Given the description of an element on the screen output the (x, y) to click on. 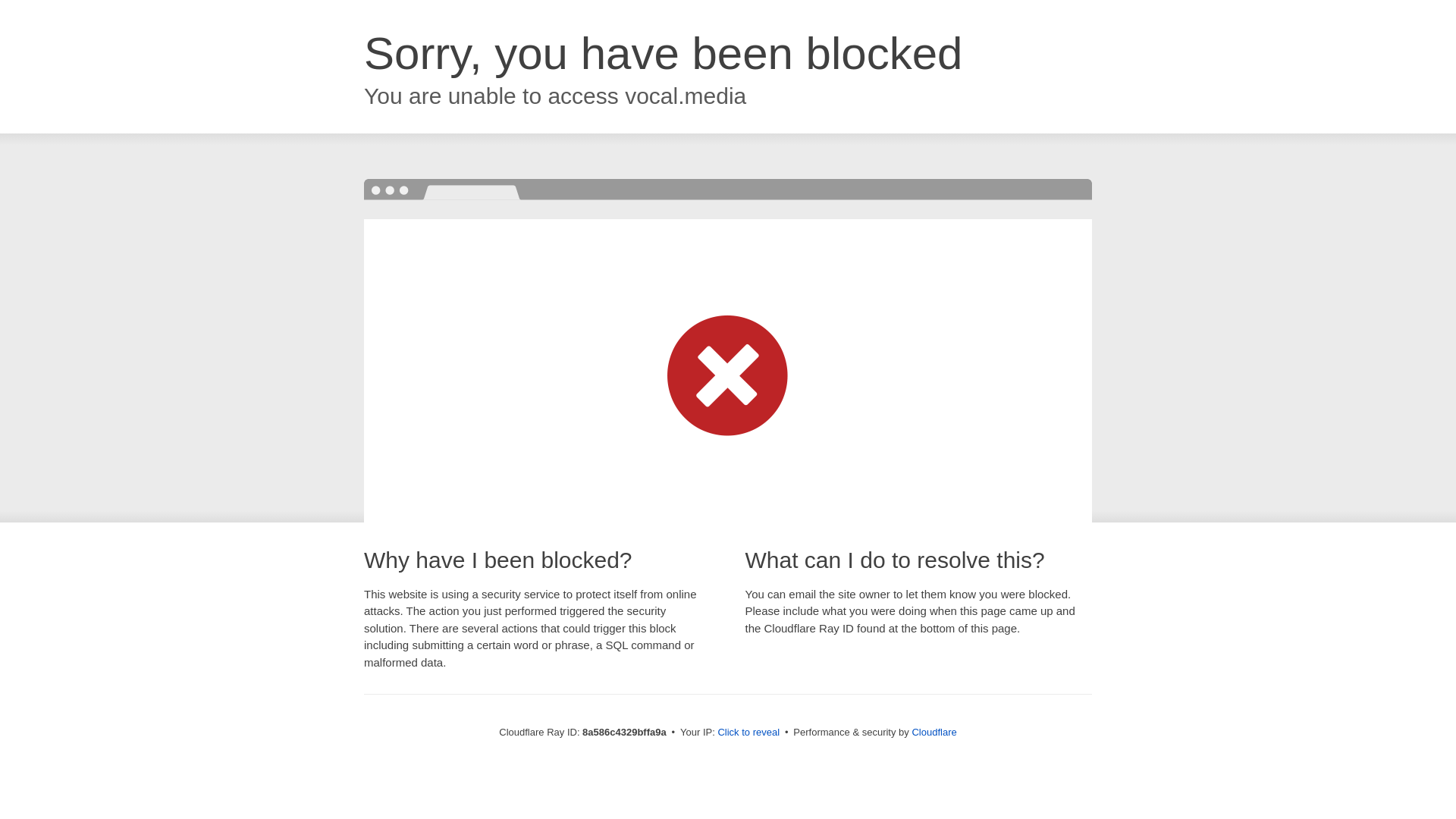
Click to reveal (747, 732)
Cloudflare (933, 731)
